Given the description of an element on the screen output the (x, y) to click on. 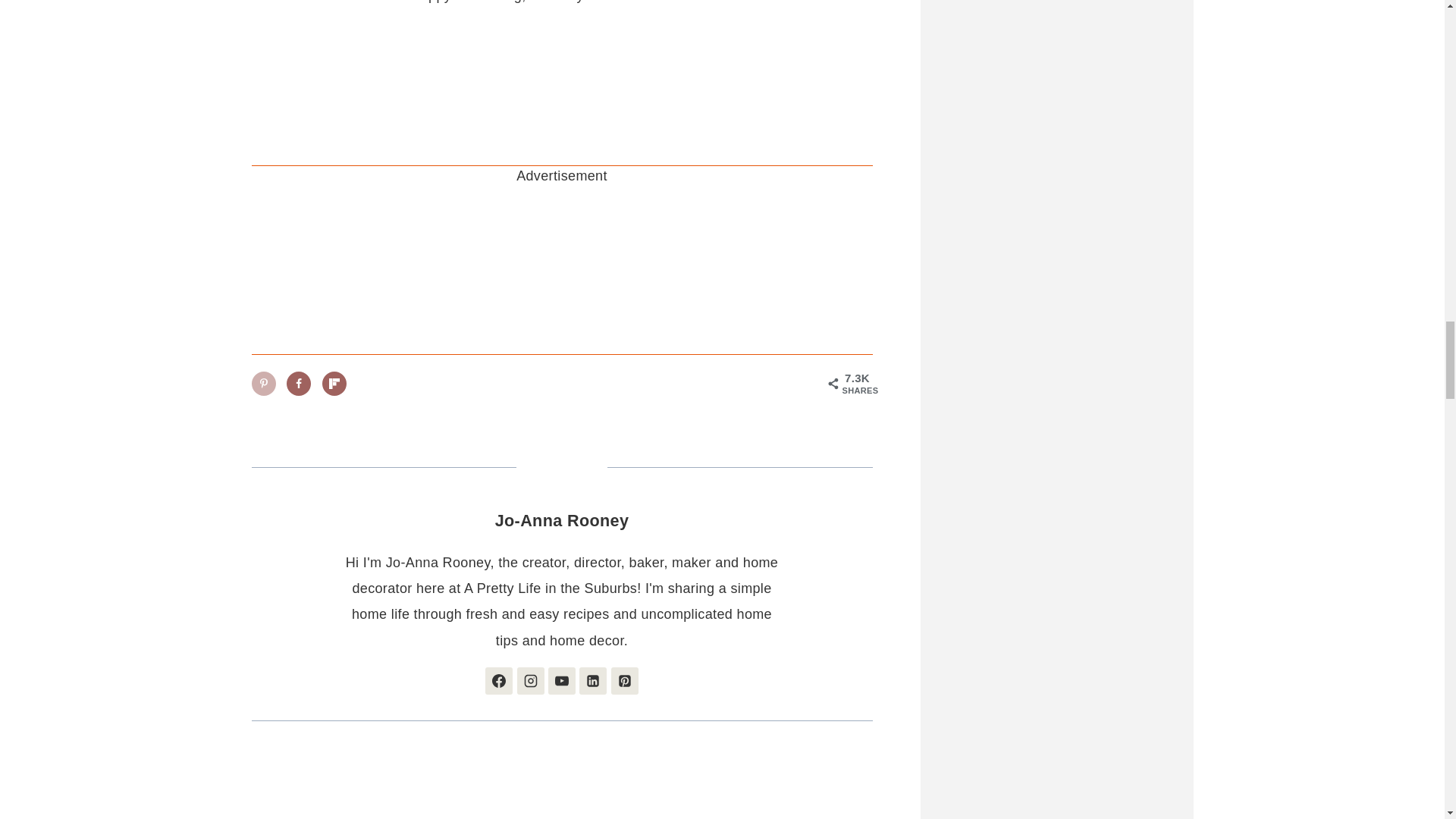
Share on Facebook (298, 383)
Save to Pinterest (263, 383)
Posts by Jo-Anna Rooney (561, 520)
Follow Jo-Anna Rooney on Linkedin (593, 680)
Follow Jo-Anna Rooney on Instagram (530, 680)
Follow Jo-Anna Rooney on Facebook (498, 680)
Follow Jo-Anna Rooney on Pinterest (625, 680)
Share on Flipboard (333, 383)
Follow Jo-Anna Rooney on Youtube (561, 680)
